Given the description of an element on the screen output the (x, y) to click on. 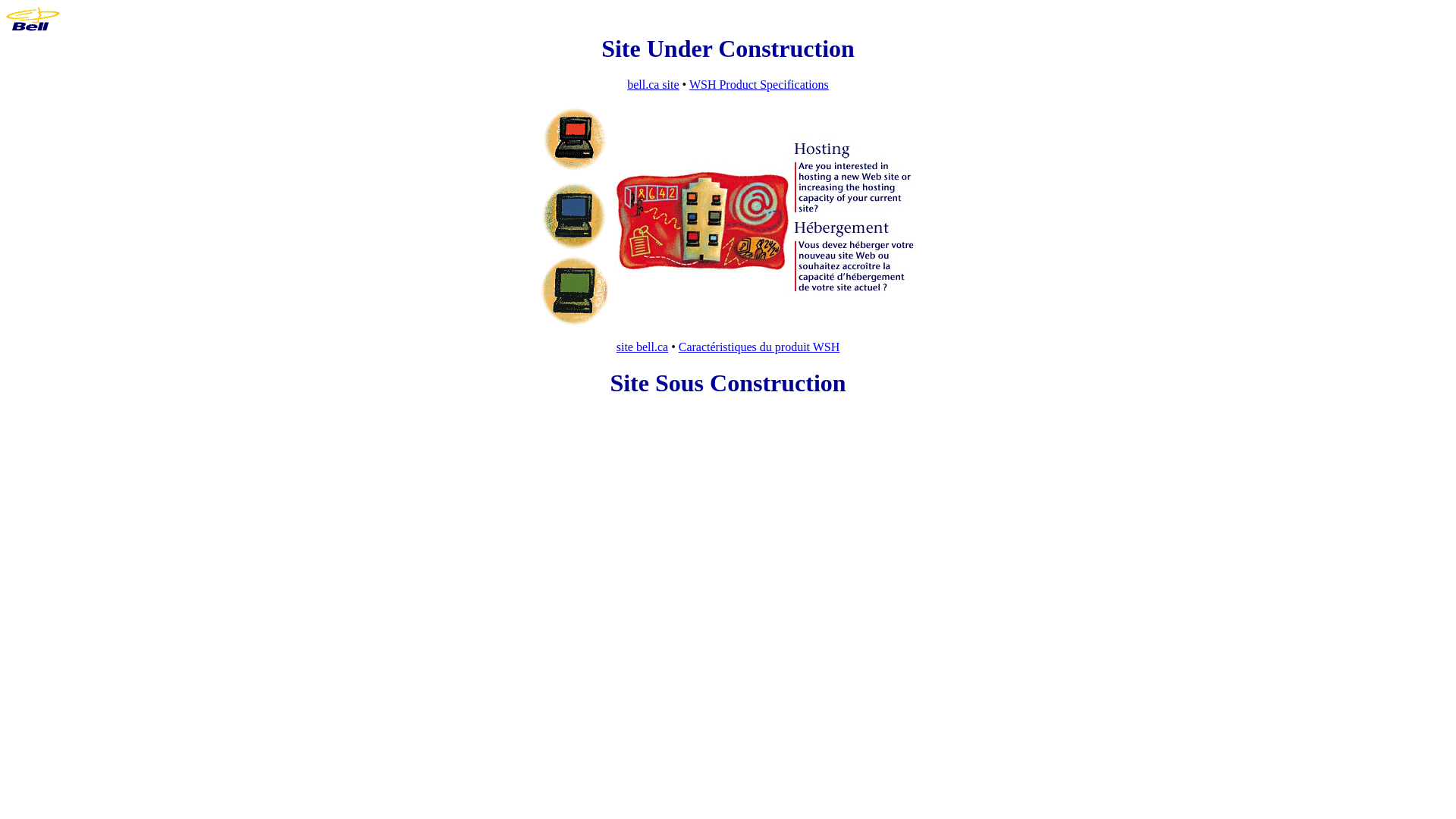
site bell.ca Element type: text (642, 346)
bell.ca site Element type: text (652, 84)
WSH Product Specifications Element type: text (758, 84)
